Given the description of an element on the screen output the (x, y) to click on. 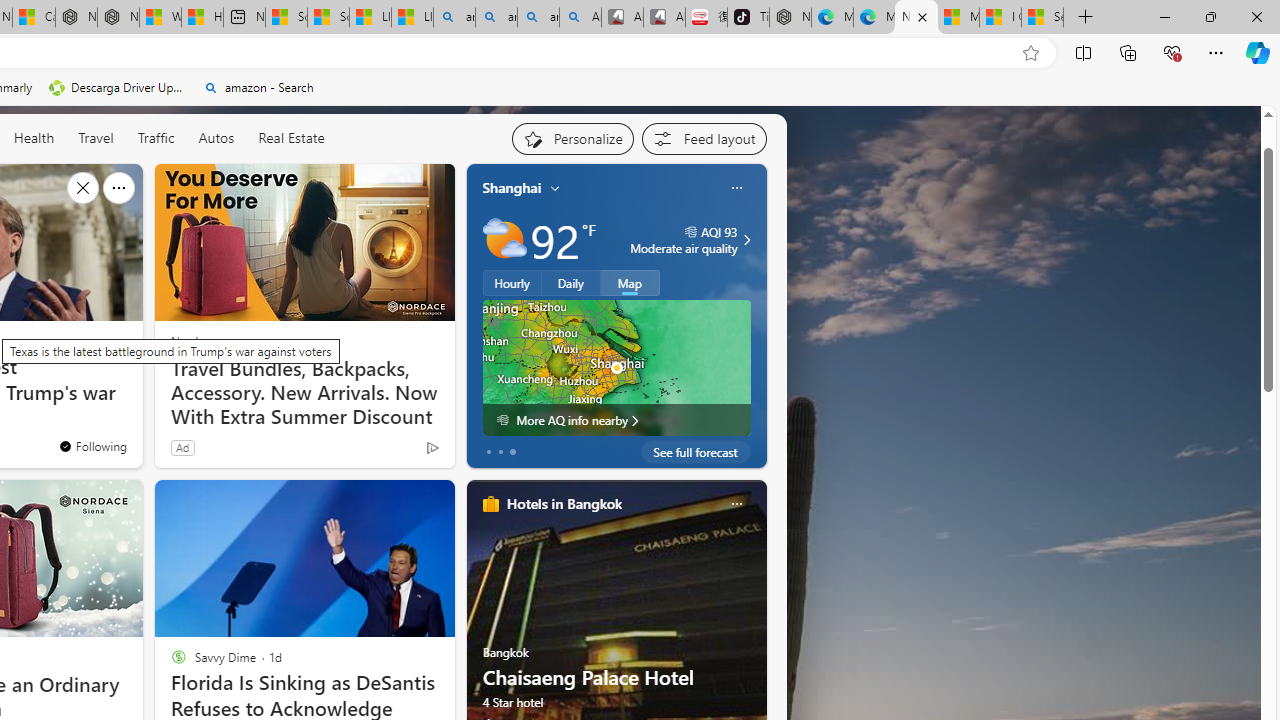
Travel (95, 138)
Hotels in Bangkok (563, 503)
Amazon Echo Robot - Search Images (580, 17)
Class: weather-arrow-glyph (746, 240)
Hourly (511, 282)
TikTok (748, 17)
Map (630, 282)
